Given the description of an element on the screen output the (x, y) to click on. 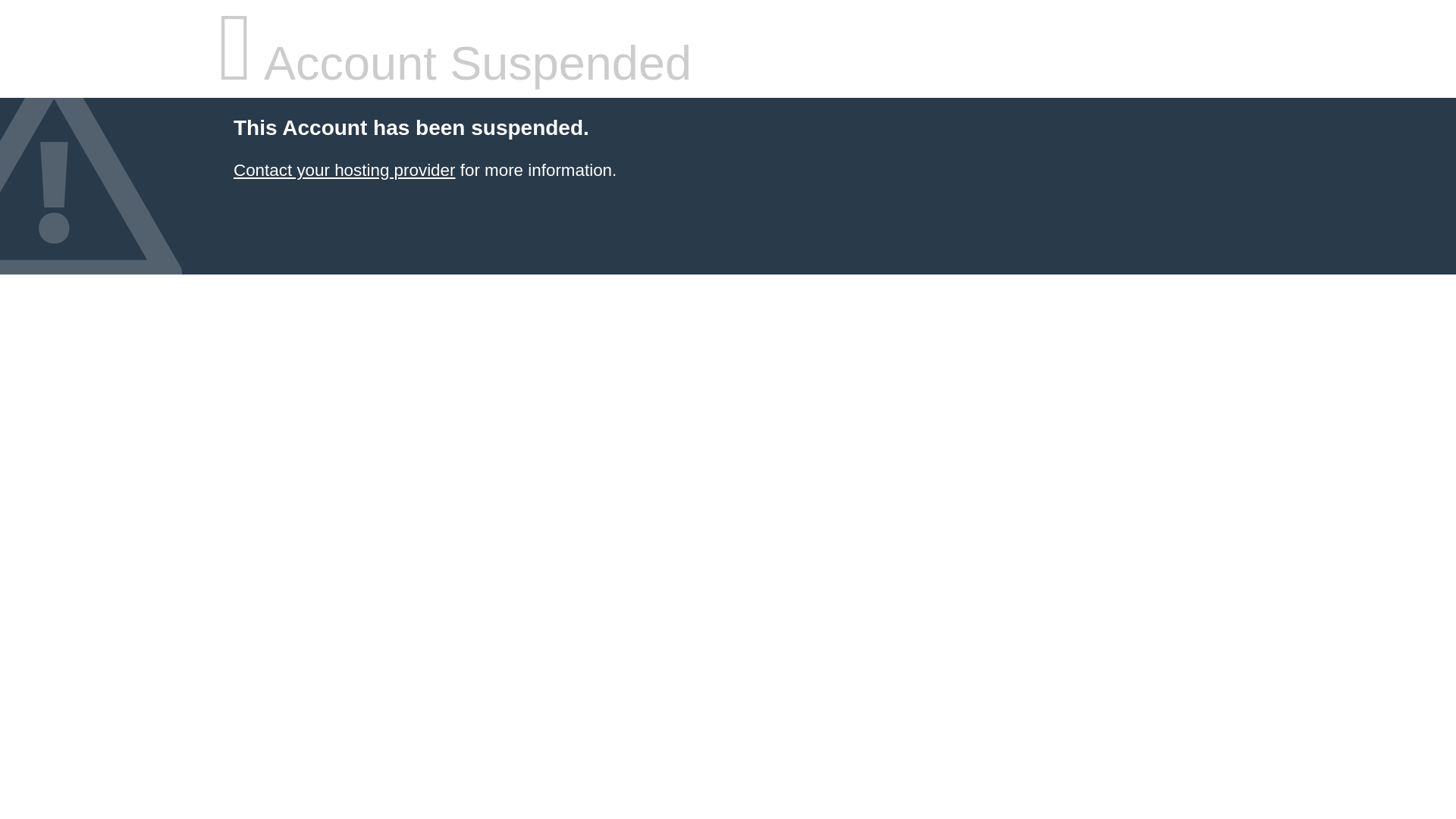
Contact your hosting provider (343, 169)
